Given the description of an element on the screen output the (x, y) to click on. 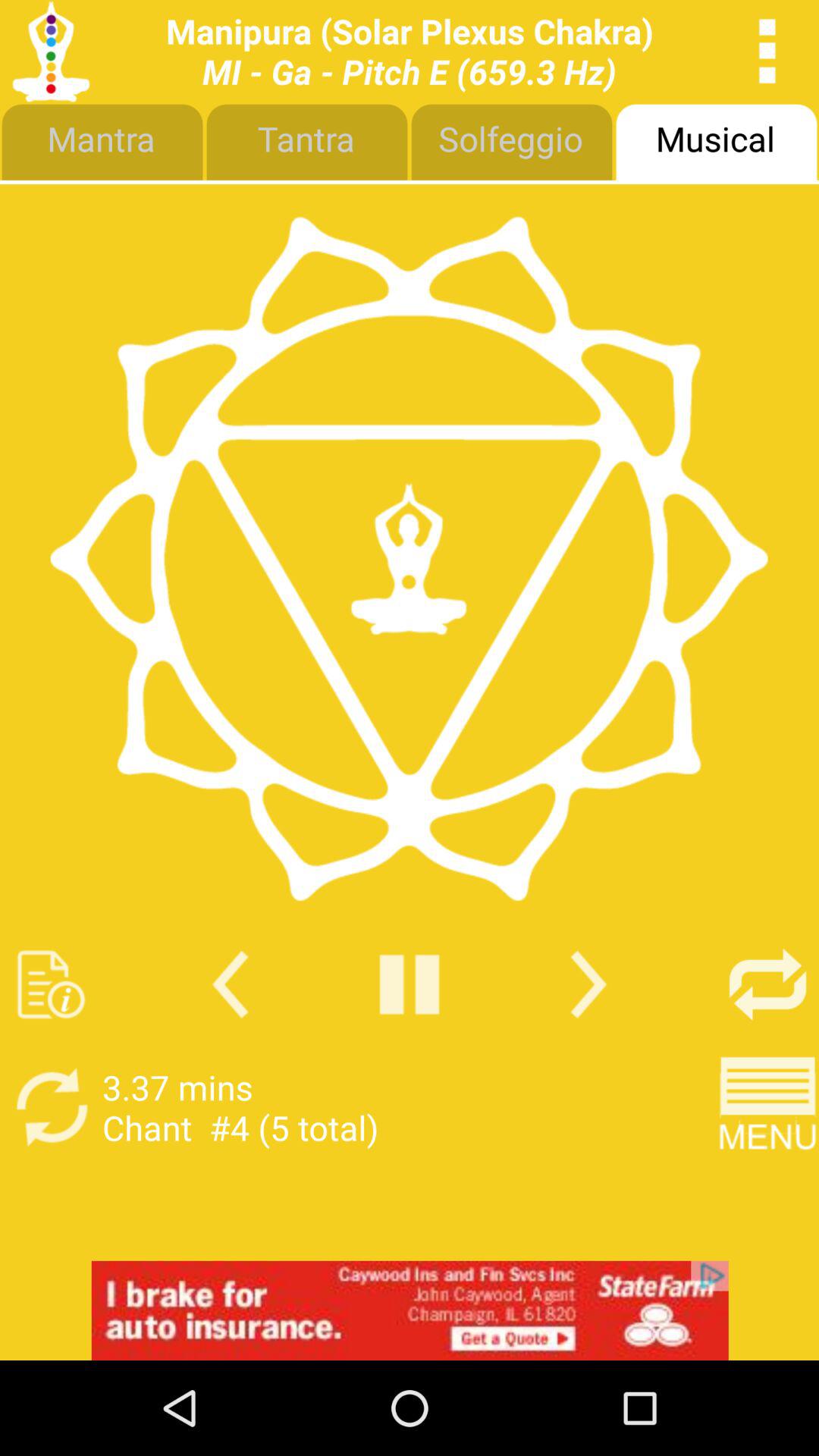
next track (588, 984)
